Given the description of an element on the screen output the (x, y) to click on. 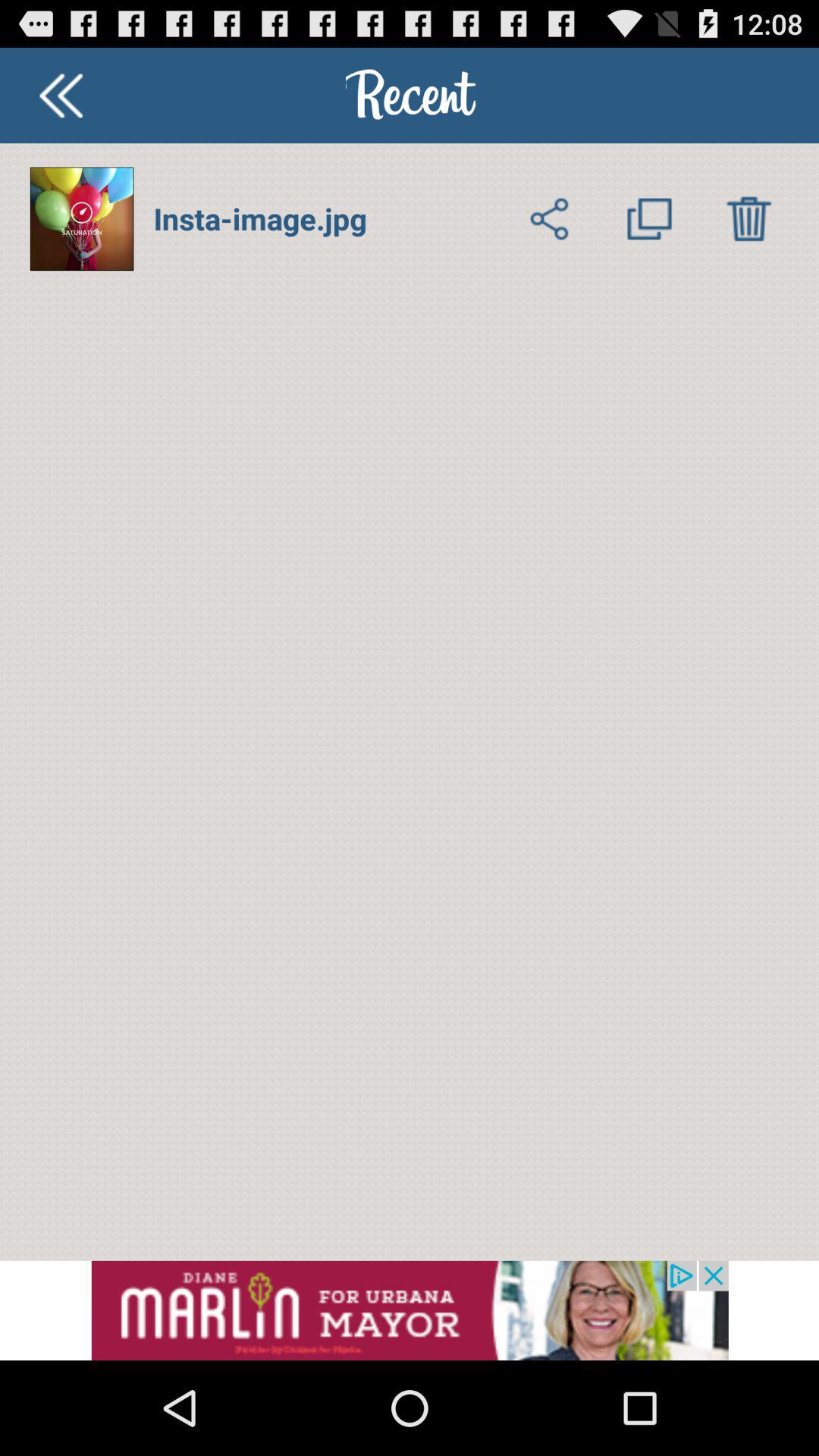
go to advertiser site (409, 1310)
